Given the description of an element on the screen output the (x, y) to click on. 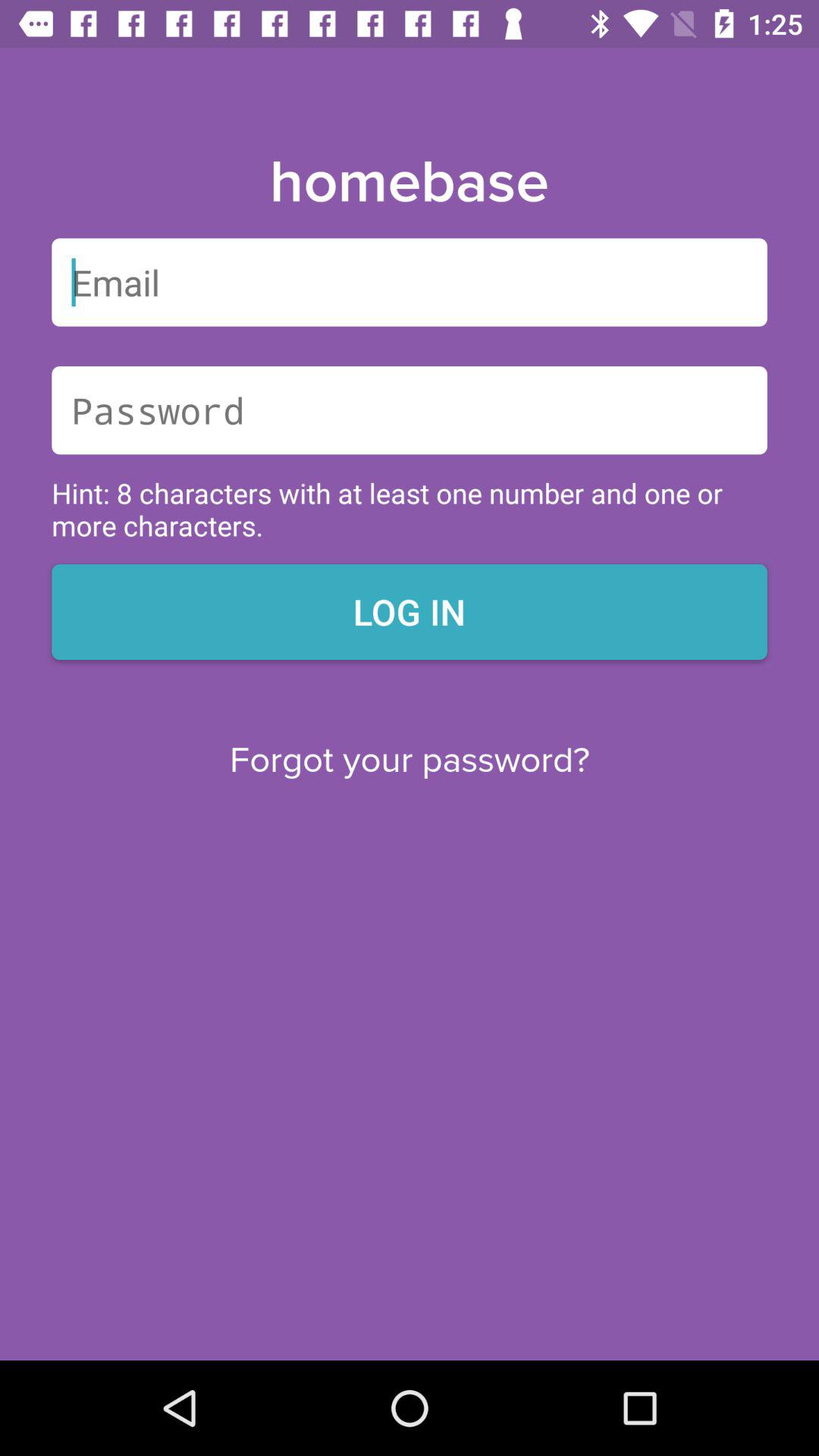
choose the homebase icon (408, 182)
